Given the description of an element on the screen output the (x, y) to click on. 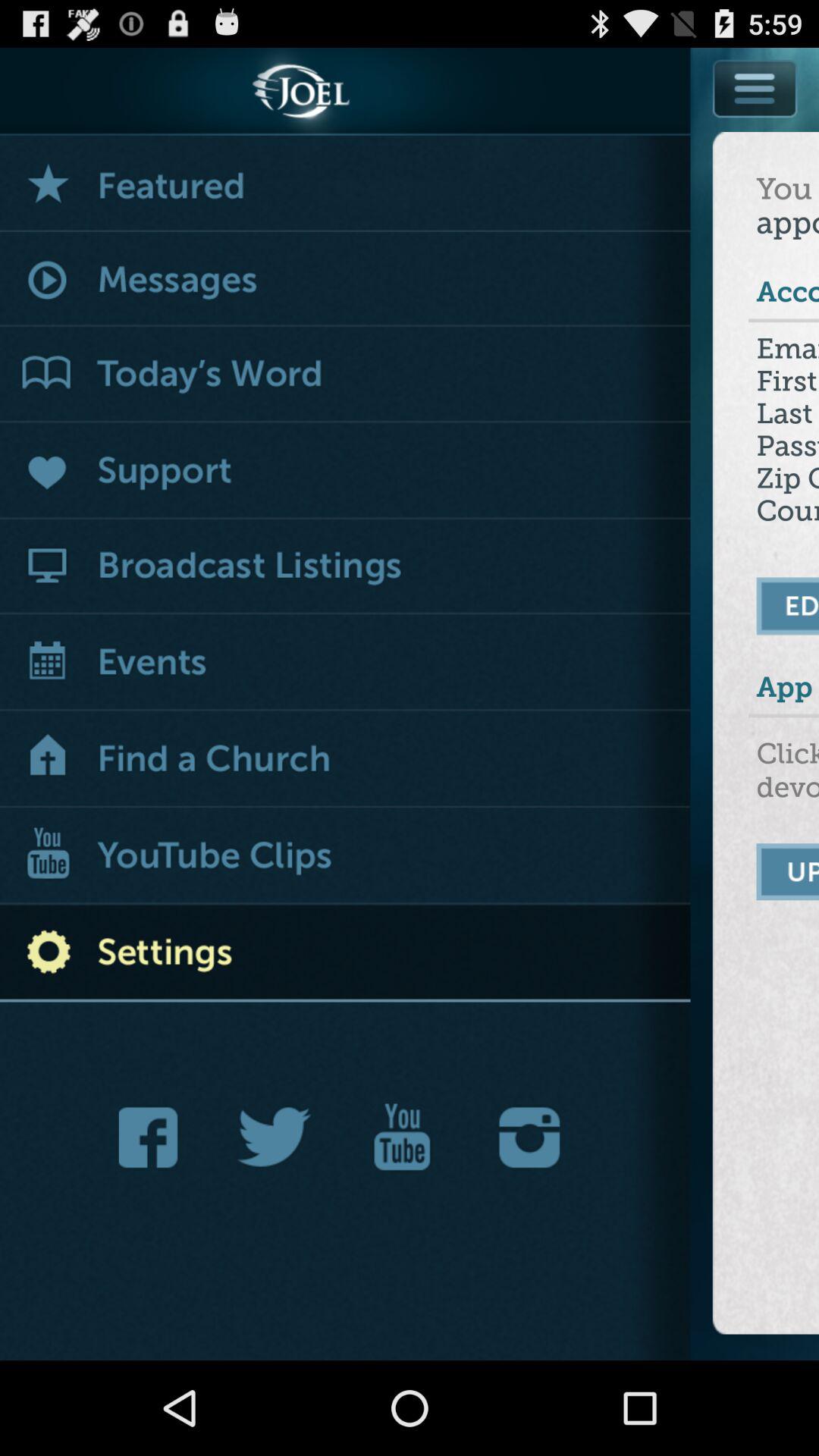
show broadcast listings (345, 566)
